Given the description of an element on the screen output the (x, y) to click on. 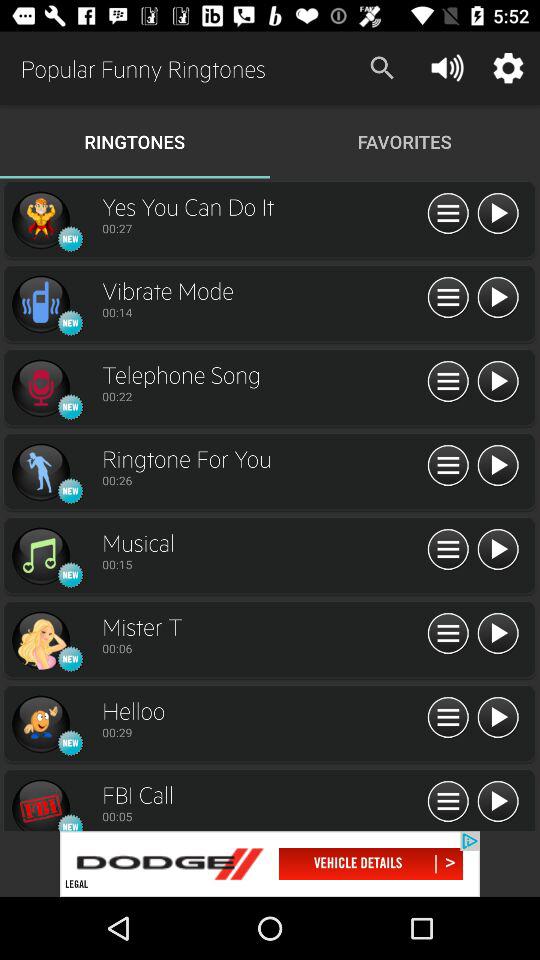
play (497, 633)
